Given the description of an element on the screen output the (x, y) to click on. 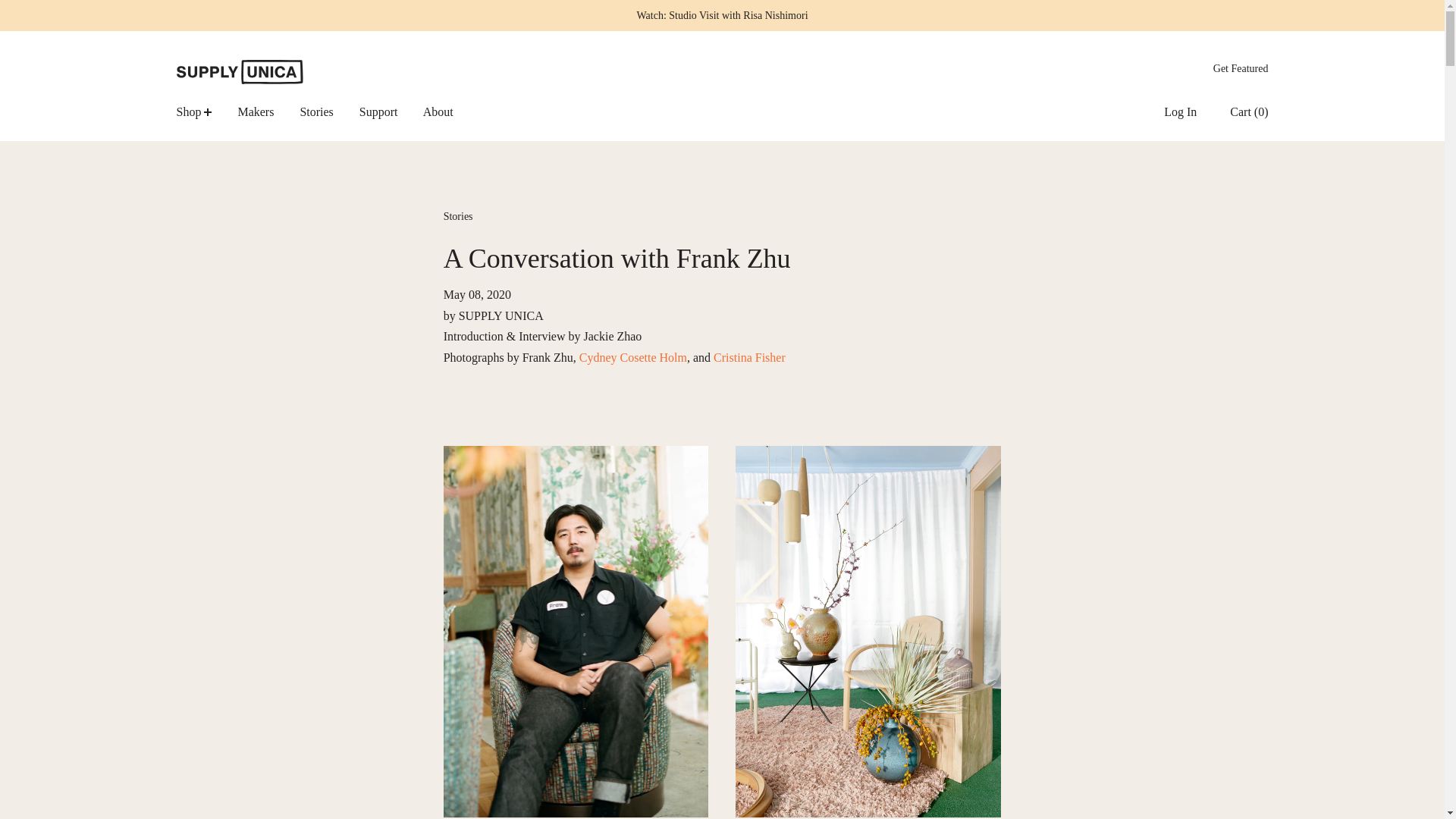
About (449, 111)
Support (389, 111)
Get Featured (1229, 68)
Makers (267, 111)
Shop (206, 111)
Log In (1165, 111)
Stories (327, 111)
